Given the description of an element on the screen output the (x, y) to click on. 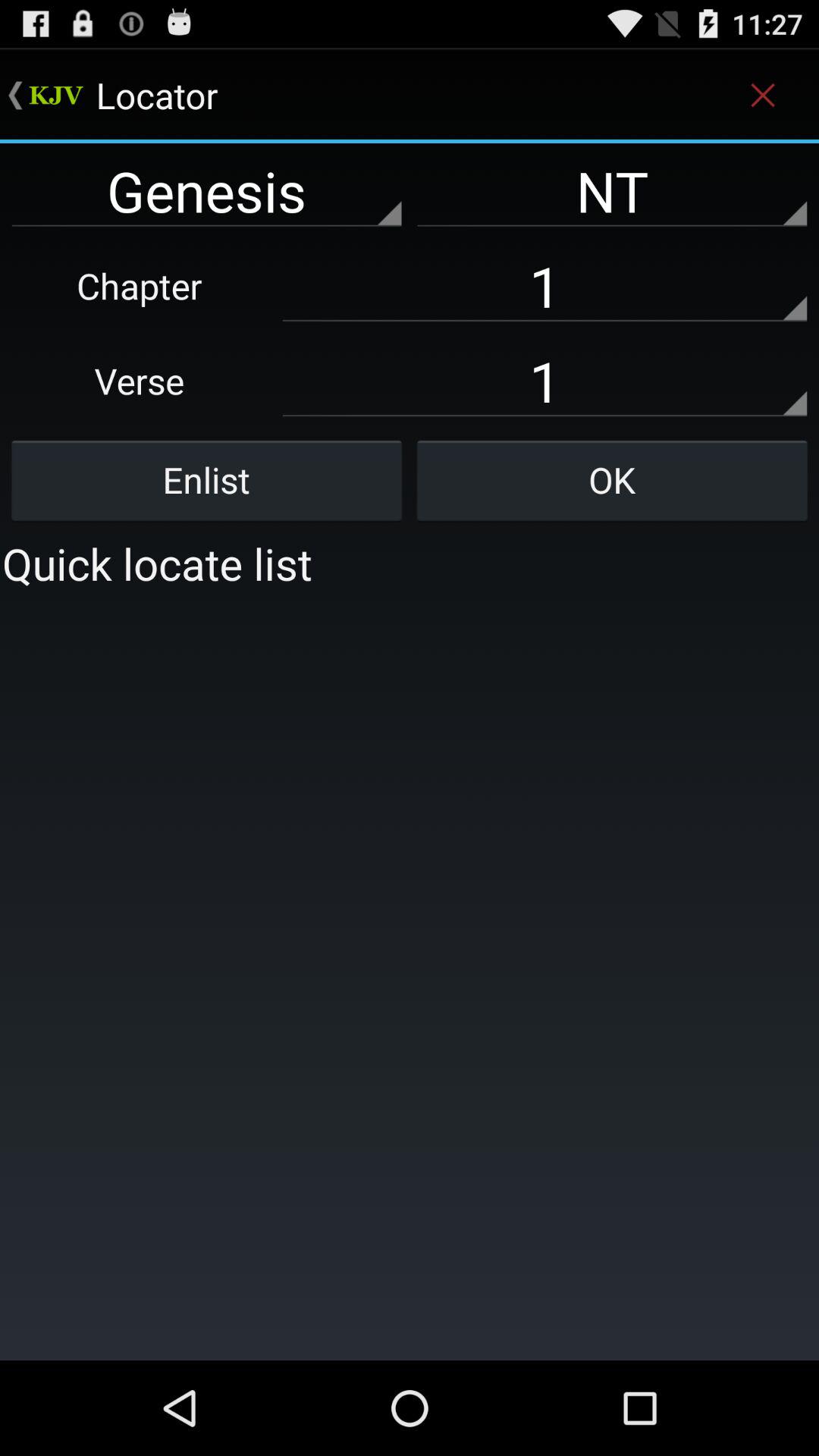
press the ok button (612, 479)
